Given the description of an element on the screen output the (x, y) to click on. 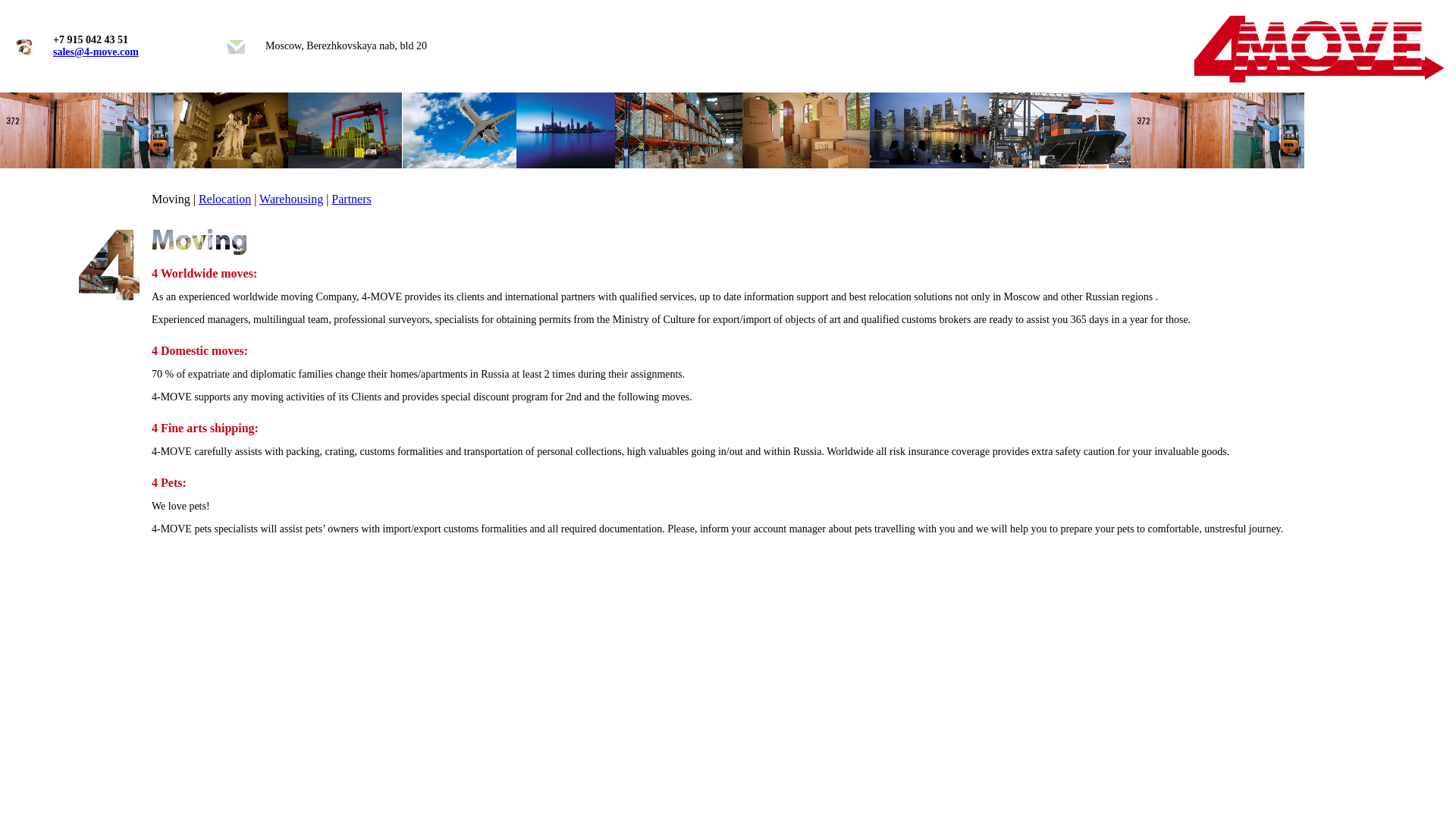
Warehousing Element type: text (291, 198)
Relocation Element type: text (224, 198)
Partners Element type: text (350, 198)
sales@4-move.com Element type: text (95, 51)
